Given the description of an element on the screen output the (x, y) to click on. 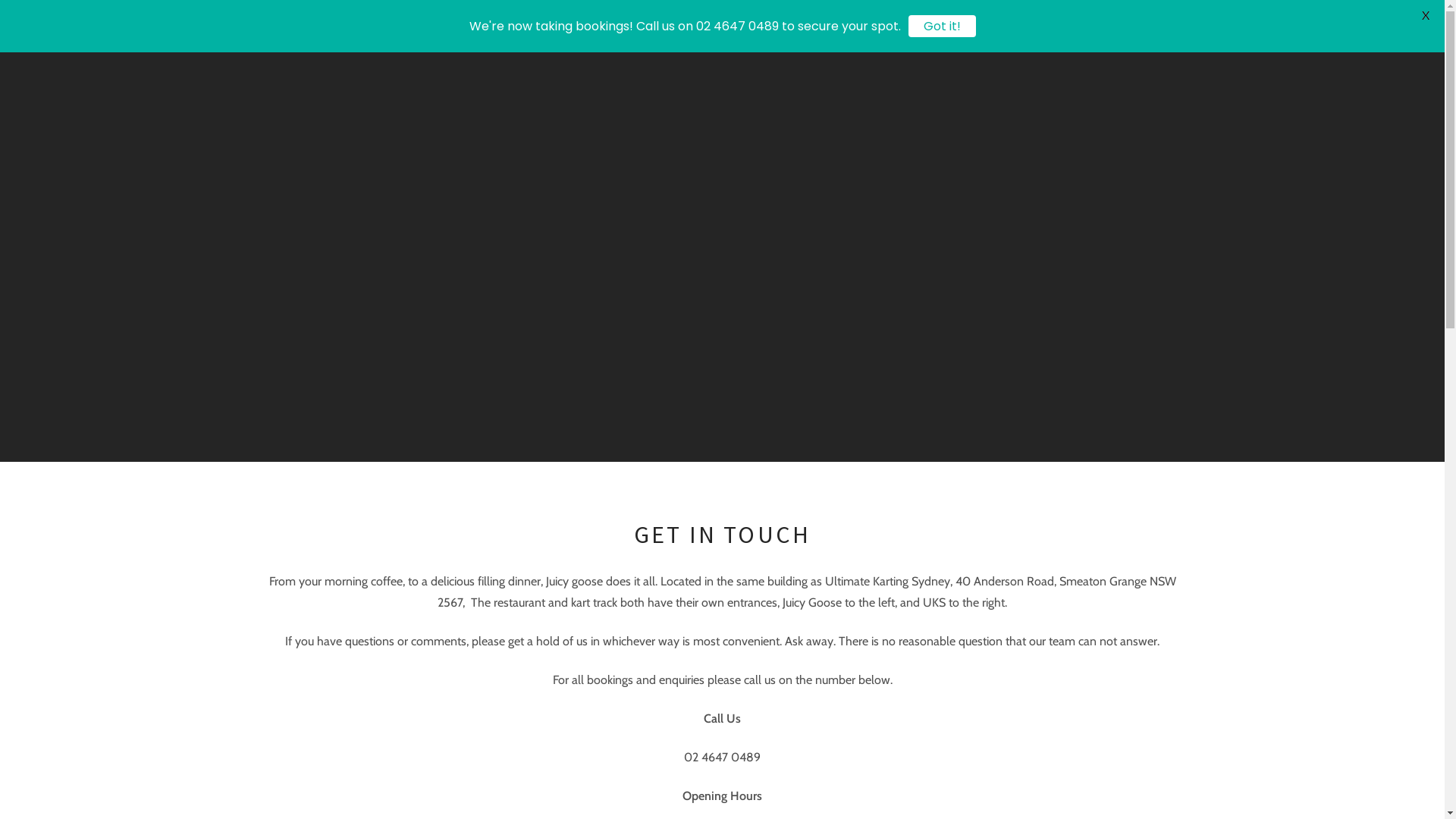
X Element type: text (1425, 14)
FACEBOOK Element type: text (1137, 25)
INSTAGRAM Element type: text (1164, 25)
OUR MENU Element type: text (783, 26)
Juicy Goose Element type: hover (457, 27)
HOME Element type: text (708, 26)
CONTACT Element type: text (1083, 27)
Got it! Element type: text (941, 26)
KARTING Element type: text (1007, 26)
CORPORATE CATERING Element type: text (898, 26)
